Given the description of an element on the screen output the (x, y) to click on. 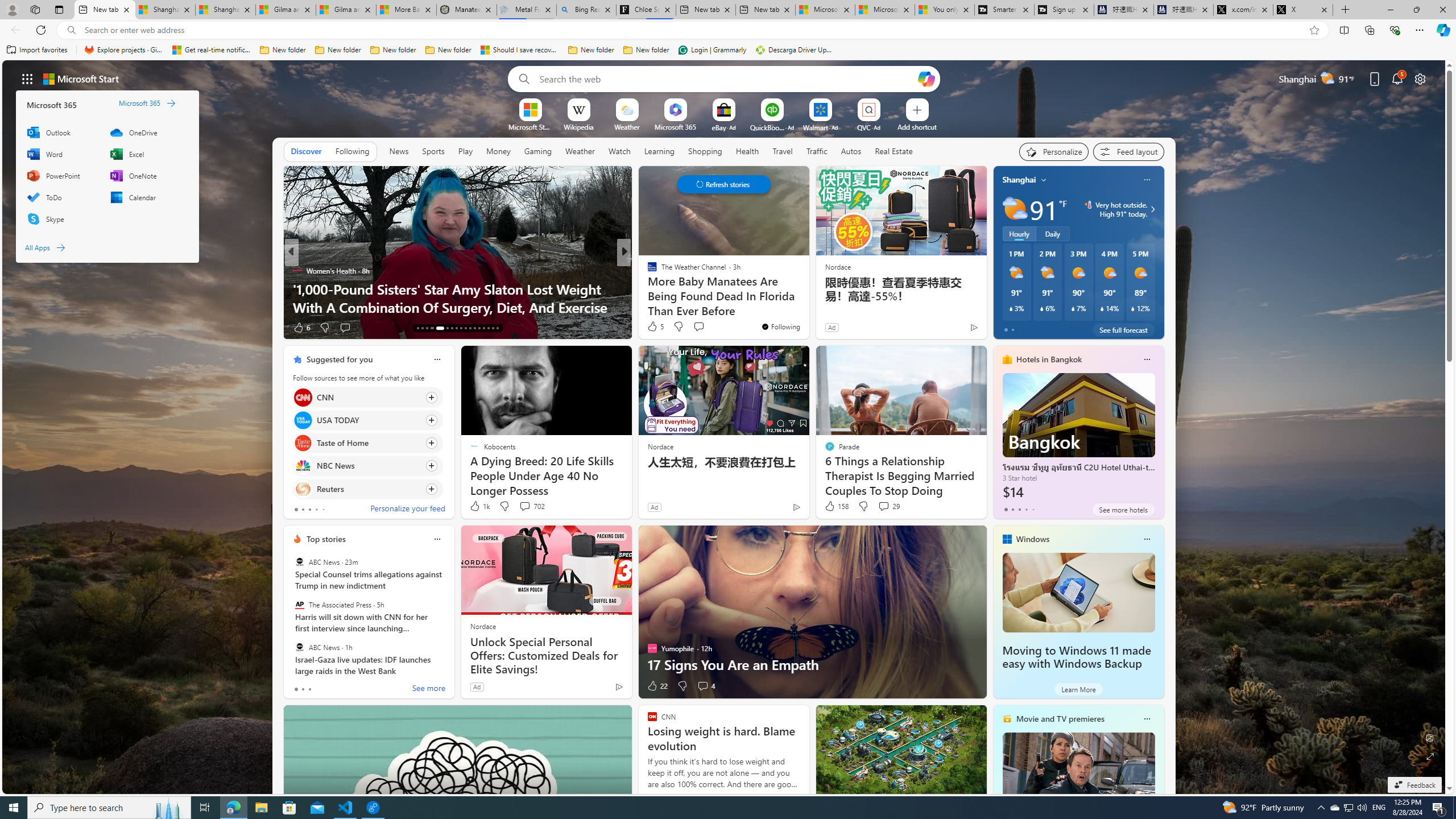
Feed settings (1128, 151)
View comments 5 Comment (705, 327)
Top 10 Worst Things To Do When Camping (807, 307)
Reuters (302, 488)
Women's Health (296, 270)
Microsoft start (81, 78)
The Verge (647, 270)
Add a site (916, 126)
hotels-header-icon (1006, 358)
